Given the description of an element on the screen output the (x, y) to click on. 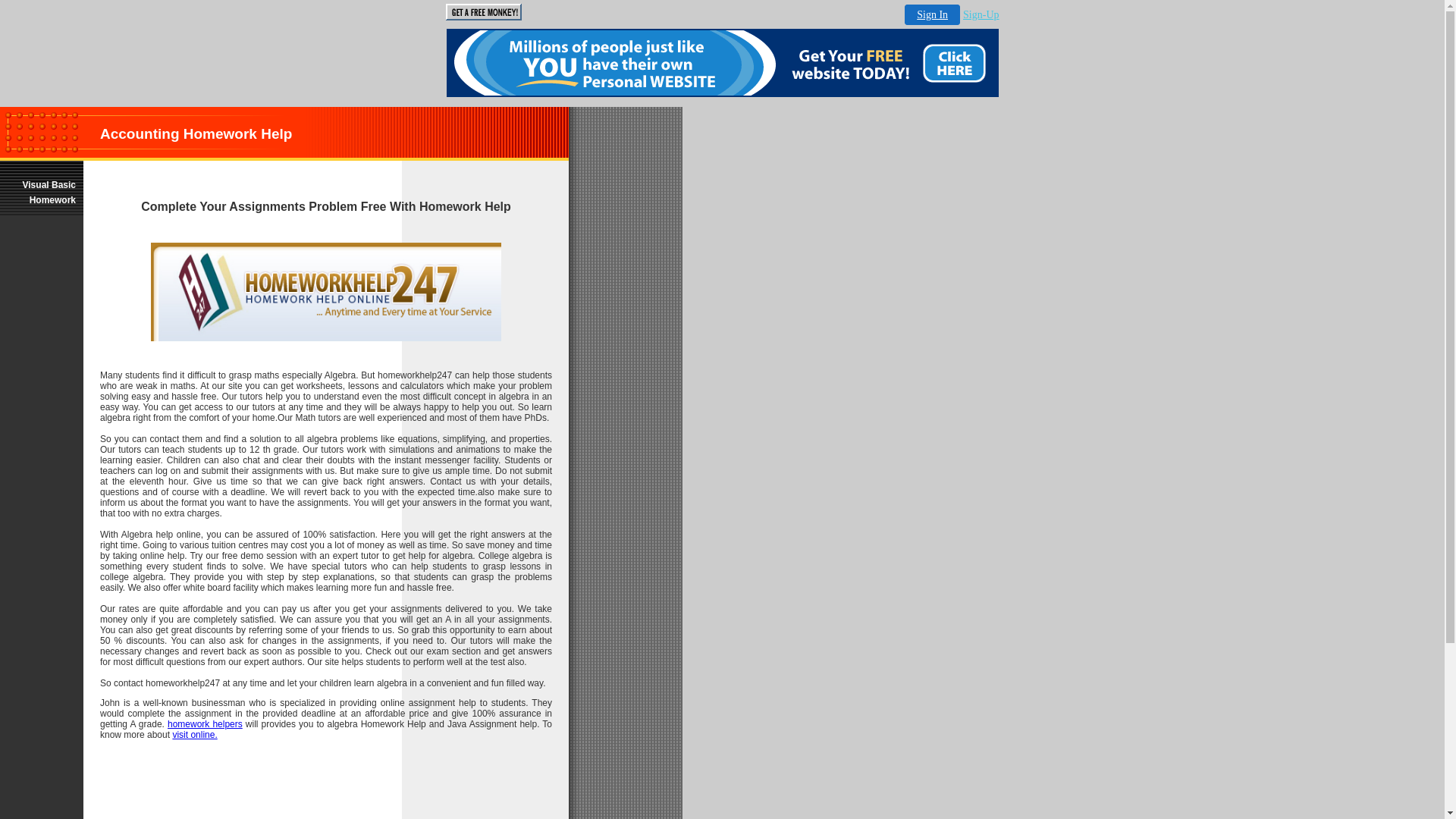
Sign In Element type: text (932, 14)
homework helpers Element type: text (204, 723)
visit online. Element type: text (194, 734)
Visual Basic Homework Element type: text (41, 192)
Sign-Up Element type: text (980, 14)
